Given the description of an element on the screen output the (x, y) to click on. 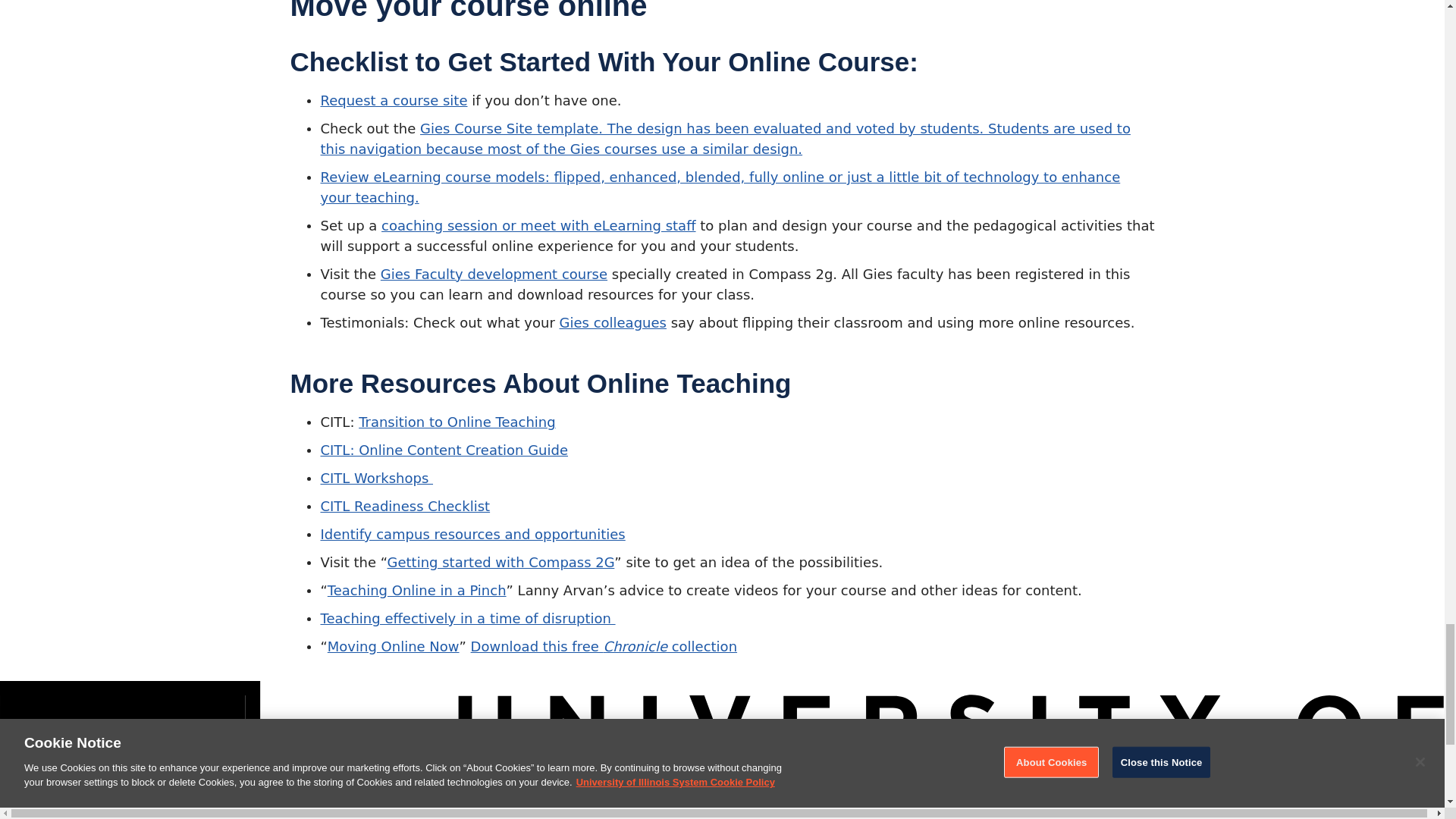
Teaching Online in a Pinch (416, 590)
CITL: Online Content Creation Guide (443, 449)
Getting started with Compass 2G (500, 562)
CITL Workshops  (376, 478)
Identify campus resources and opportunities (472, 534)
Download this free Chronicle collection (603, 646)
Download this free Chronicle collection (603, 646)
Gies Faculty development course (493, 273)
Transition to Online Teaching (457, 421)
Request a course site (393, 100)
Moving Online Now (393, 646)
Gies colleagues (612, 322)
CITL Readiness Checklist (404, 505)
Teaching effectively in a time of disruption  (467, 618)
